Given the description of an element on the screen output the (x, y) to click on. 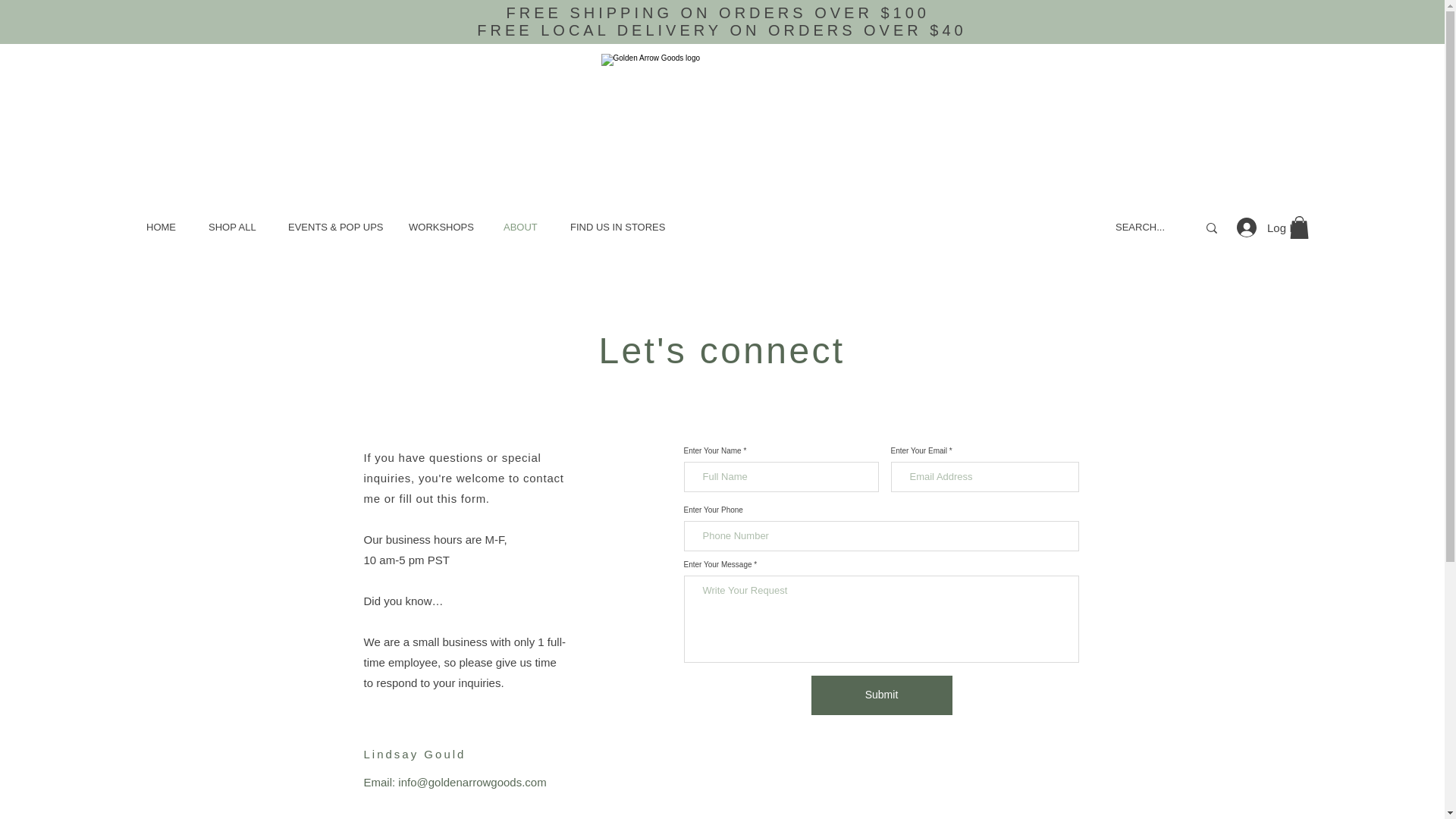
SHOP ALL (236, 227)
HOME (165, 227)
Log In (1254, 226)
Submit (881, 694)
FIND US IN STORES (620, 227)
ABOUT (525, 227)
WORKSHOPS (444, 227)
